Given the description of an element on the screen output the (x, y) to click on. 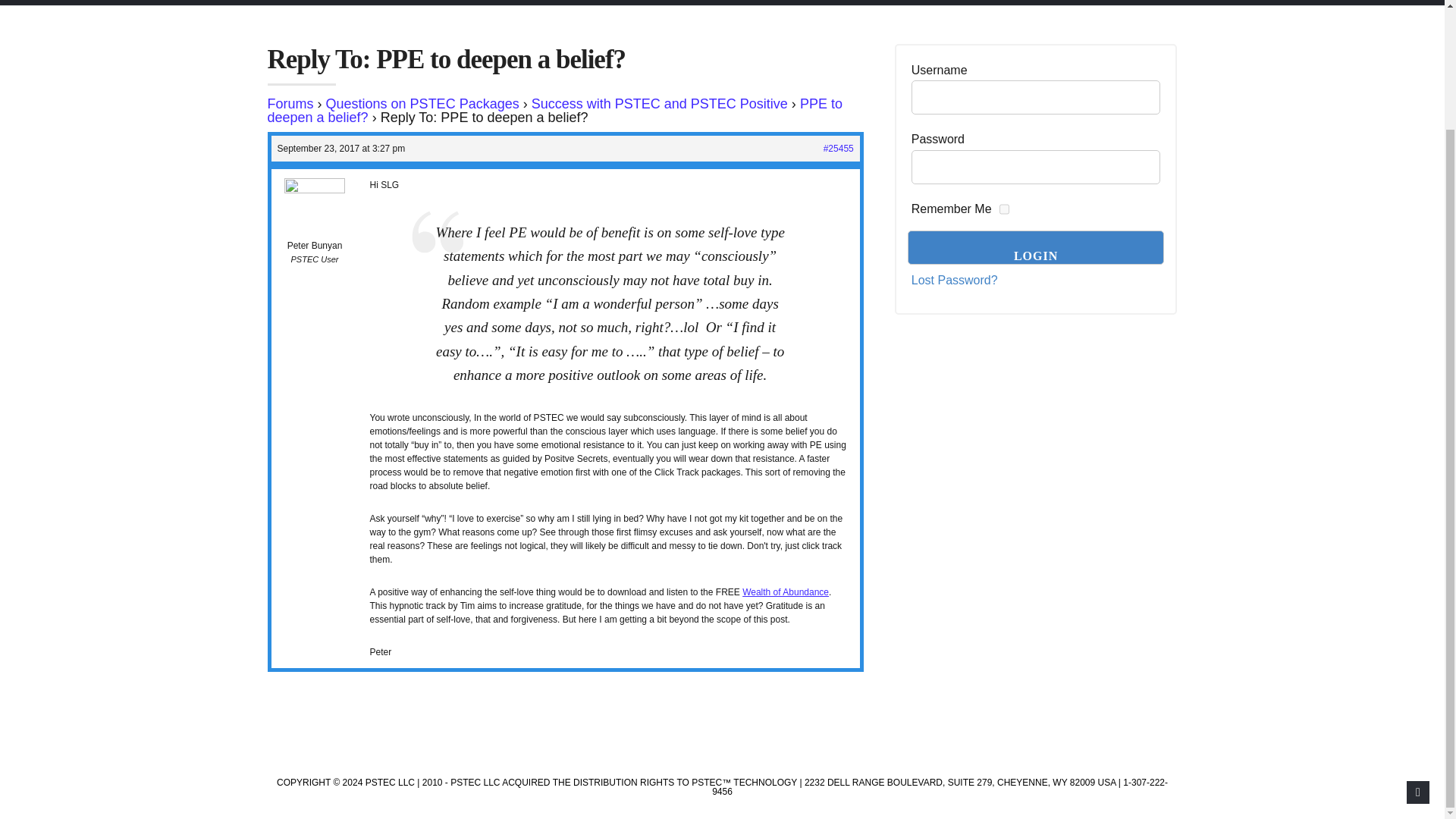
Login (1035, 247)
Please enter password (1035, 166)
Please enter username (1035, 97)
PSTEC FORUM (811, 2)
Wealth of Abundance (785, 592)
PPE to deepen a belief? (553, 110)
Success with PSTEC and PSTEC Positive (659, 103)
SELF HYPNOSIS COURSES (665, 2)
Lost Password? (954, 280)
PSTEC HELP DESK (935, 2)
